Given the description of an element on the screen output the (x, y) to click on. 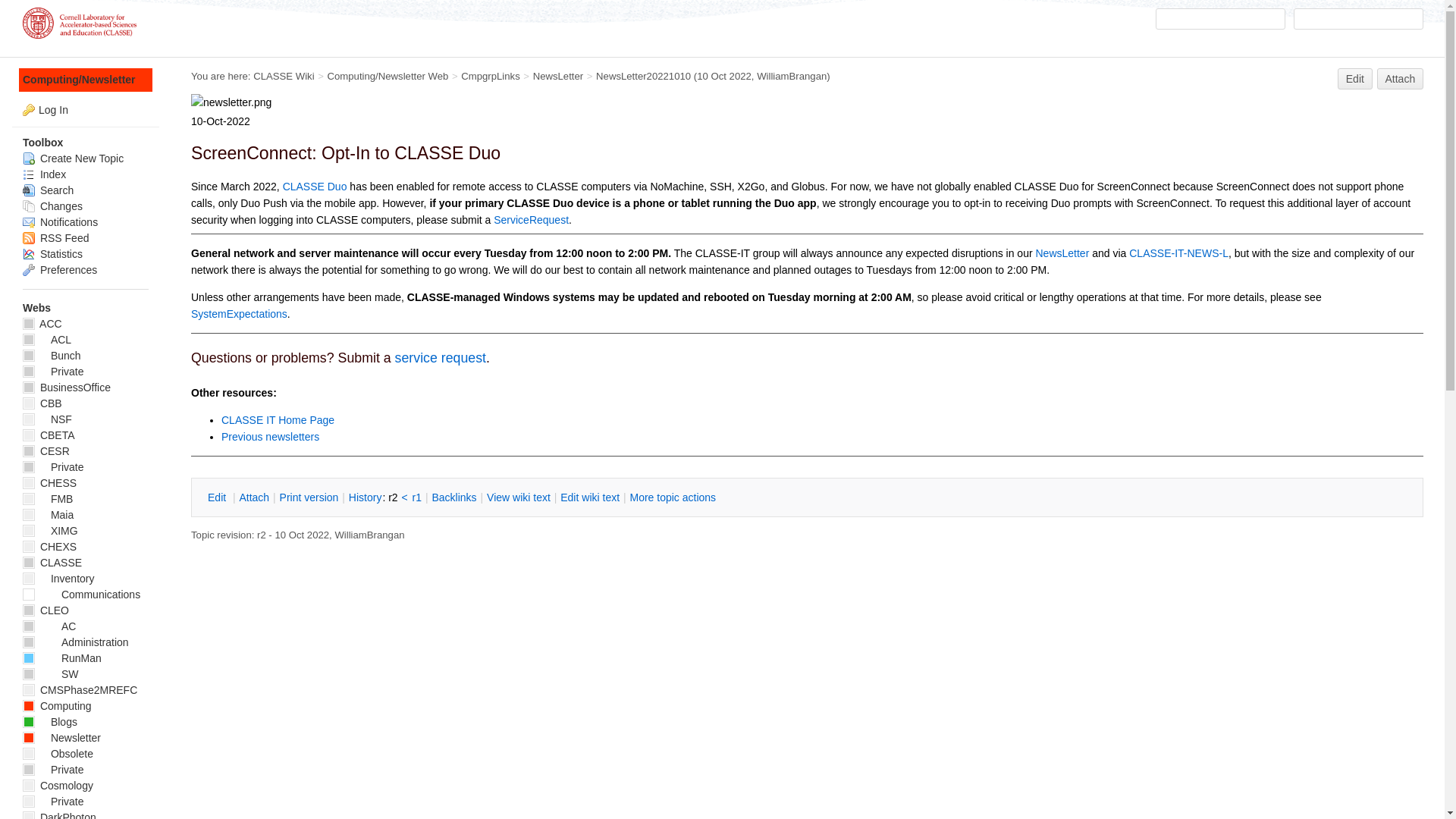
Printable version of this topic (309, 497)
Edit this topic text (1355, 78)
CLASSE Wiki (283, 75)
NewsLetter (557, 75)
CLASSE Duo (314, 186)
CmpgrpLinks (490, 75)
Notifications (60, 222)
Backlinks (453, 497)
newsletter.png (230, 102)
View wiki text (518, 497)
Edit (218, 497)
Statistics (52, 254)
NewsLetter (1062, 253)
View complete topic history (364, 497)
